Given the description of an element on the screen output the (x, y) to click on. 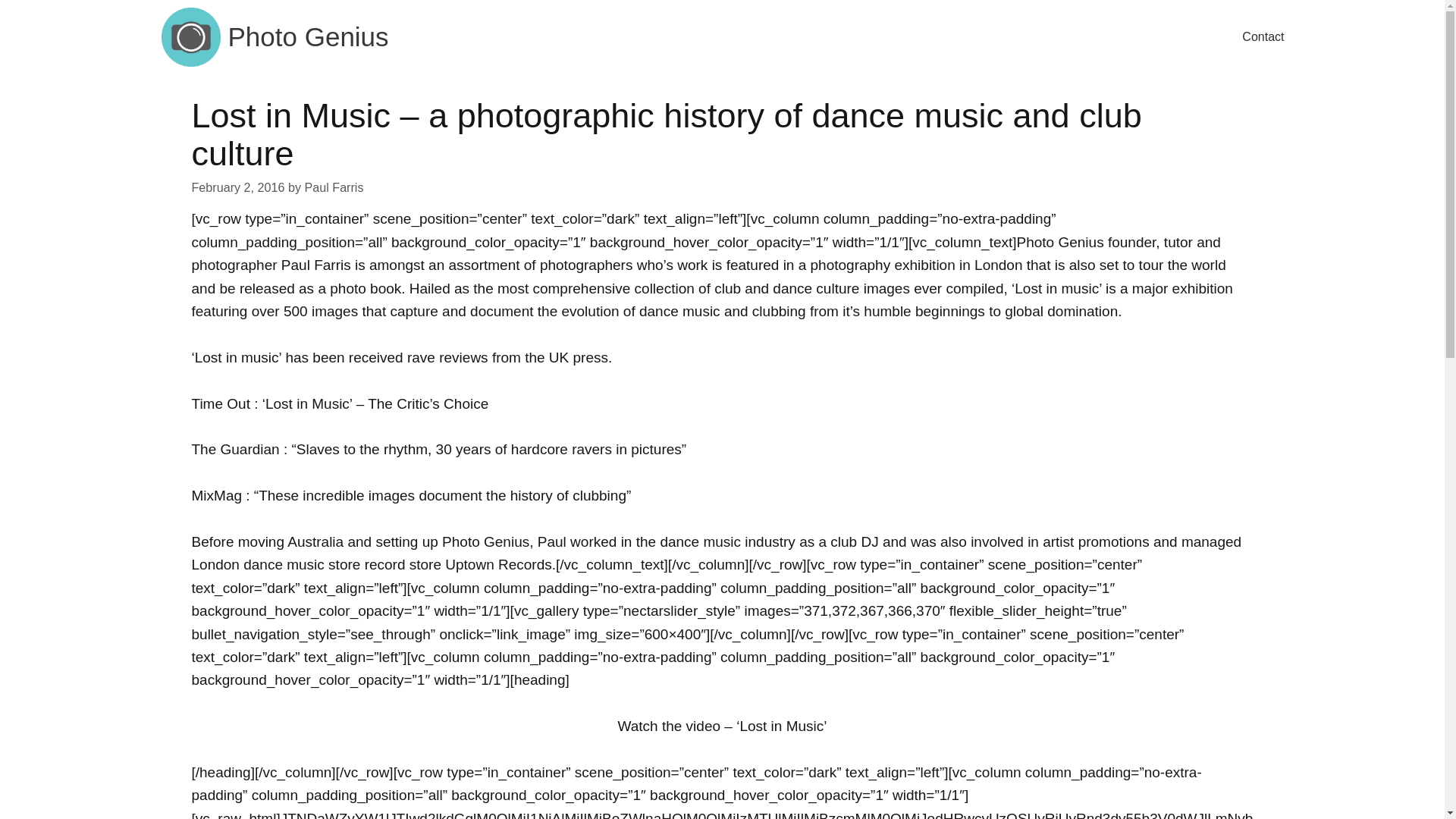
Contact Element type: text (1262, 37)
Paul Farris Element type: text (333, 187)
Photo Genius Element type: text (485, 541)
Photo Genius Element type: hover (189, 37)
Paul Farris Element type: text (316, 265)
Photo Genius Element type: text (307, 37)
